Given the description of an element on the screen output the (x, y) to click on. 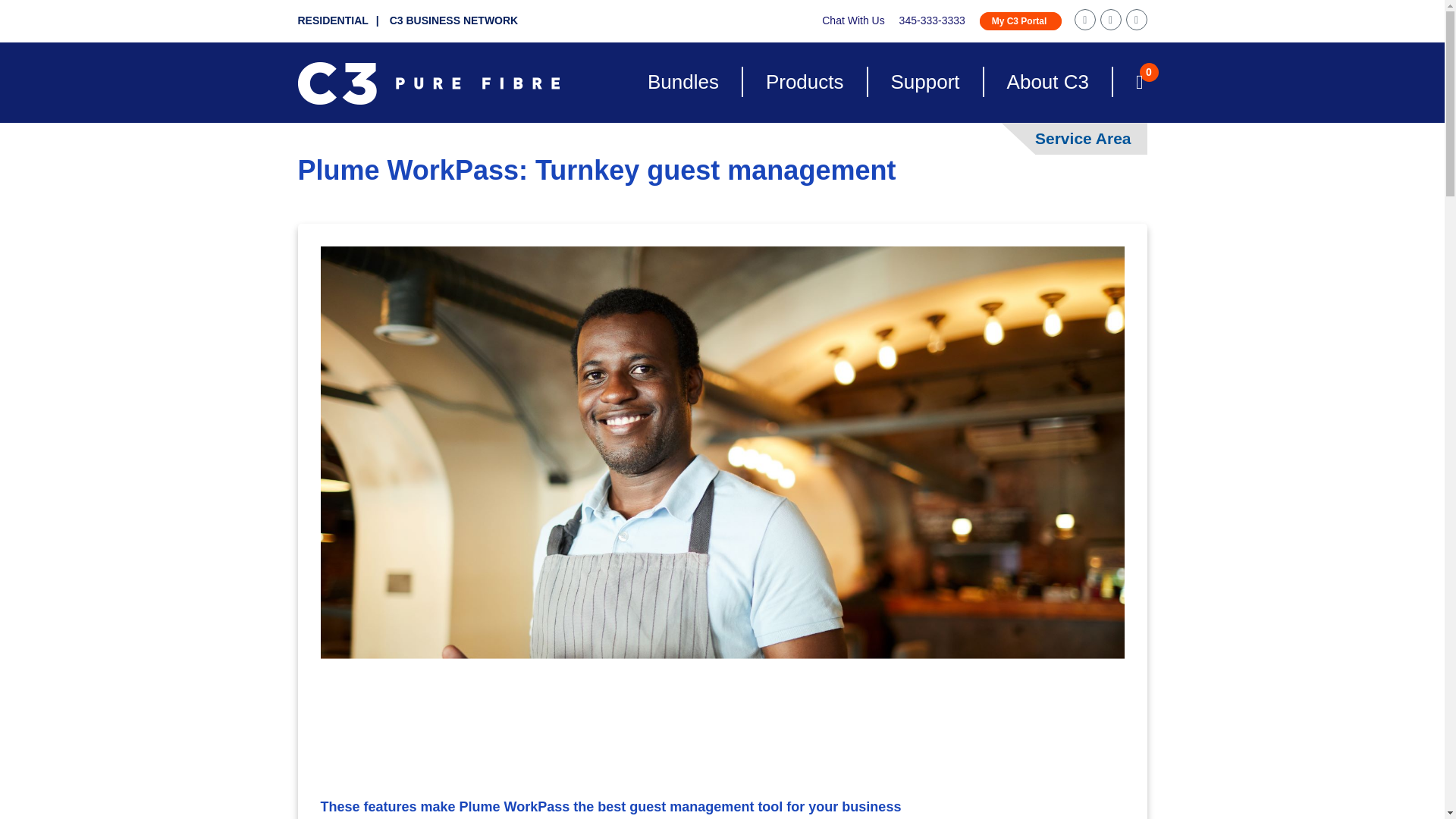
345-333-3333 (932, 20)
Chat With Us (852, 20)
C3 BUSINESS NETWORK (454, 20)
About C3 (1048, 81)
My C3 Portal (1020, 21)
Products (804, 81)
Bundles (682, 81)
RESIDENTIAL (341, 20)
Support (924, 81)
Start search (866, 134)
